Given the description of an element on the screen output the (x, y) to click on. 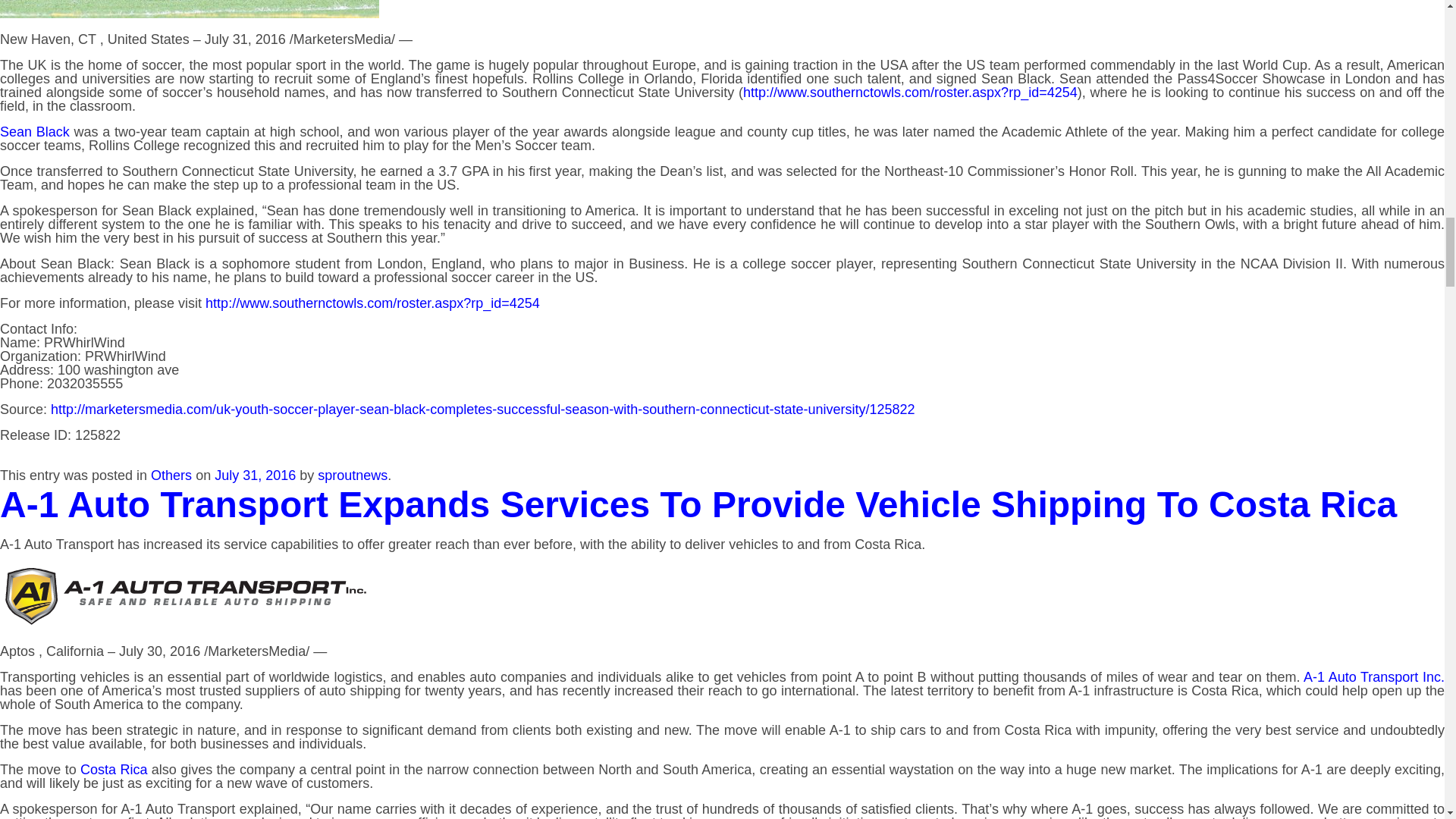
sproutnews (352, 475)
Sean Black (34, 131)
Others (171, 475)
View all posts by sproutnews (352, 475)
July 31, 2016 (254, 475)
8:00 am (254, 475)
Costa Rica (113, 769)
